Given the description of an element on the screen output the (x, y) to click on. 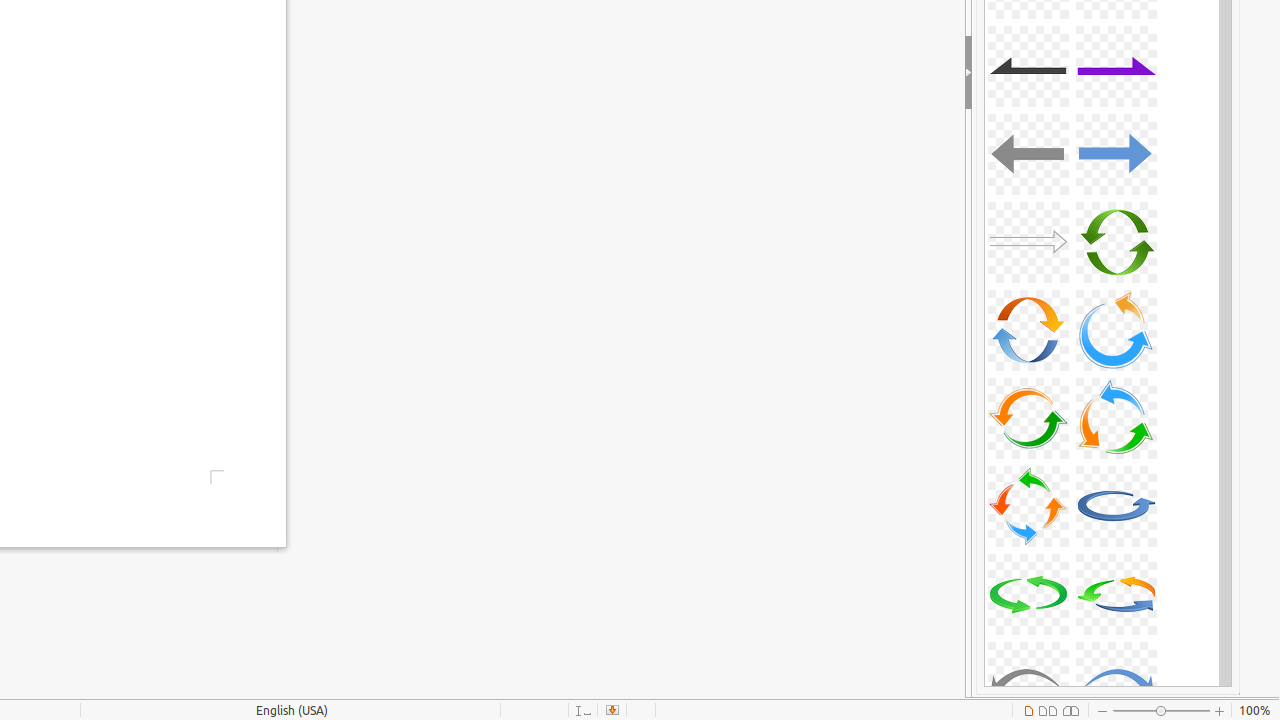
A09-Arrow-Gray-Left Element type: list-item (1028, 65)
A16-CircleArrow Element type: list-item (1116, 330)
A20-CircleArrow-LightBlue Element type: list-item (1116, 506)
A17-CircleArrow Element type: list-item (1028, 417)
